Given the description of an element on the screen output the (x, y) to click on. 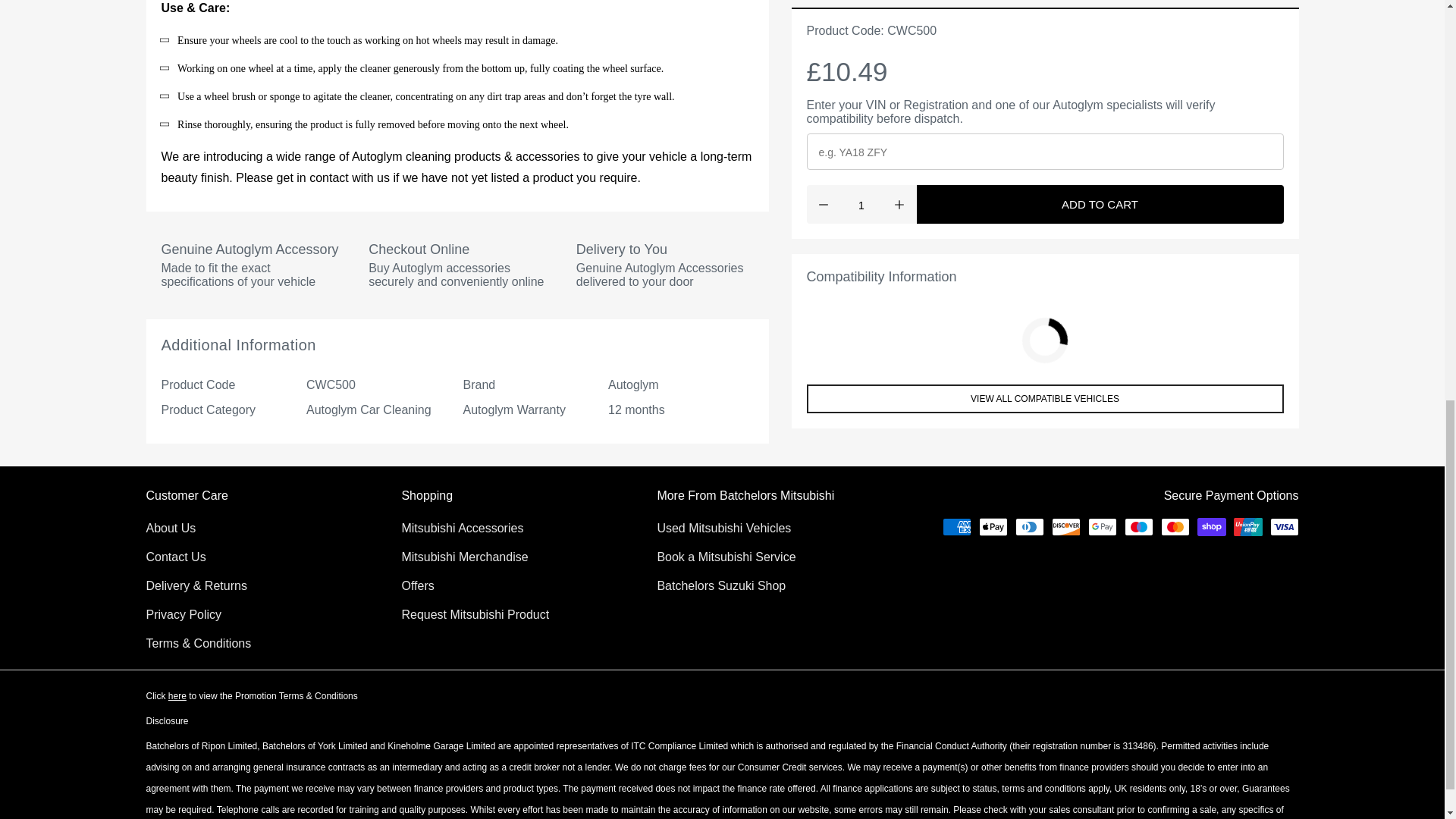
Diners Club (1028, 526)
Google Pay (1101, 526)
Visa (1283, 526)
Union Pay (1247, 526)
Maestro (1138, 526)
Mastercard (1174, 526)
Apple Pay (992, 526)
American Express (956, 526)
Discover (1065, 526)
Shop Pay (1210, 526)
